Given the description of an element on the screen output the (x, y) to click on. 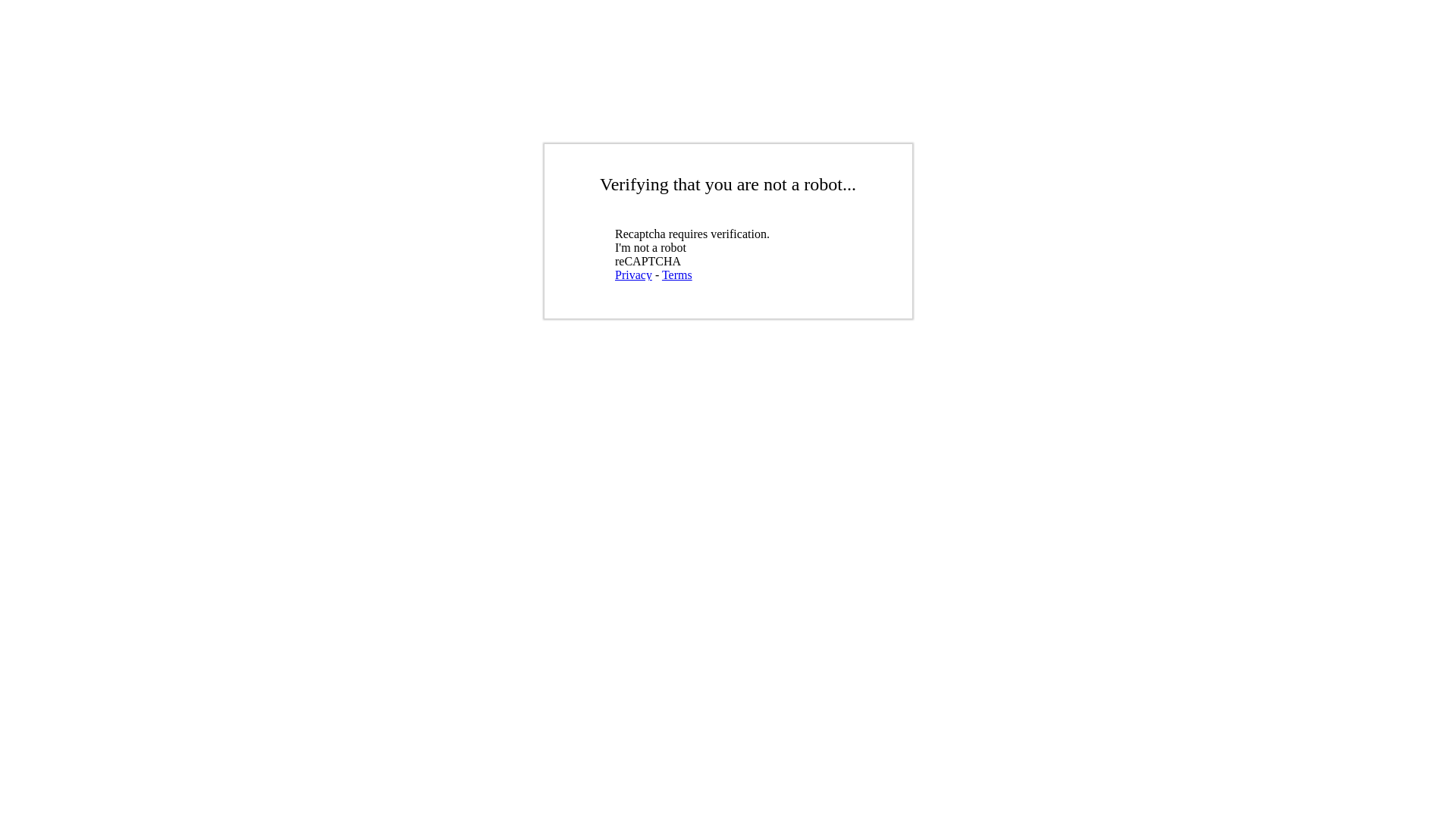
reCAPTCHA Element type: hover (723, 250)
